Given the description of an element on the screen output the (x, y) to click on. 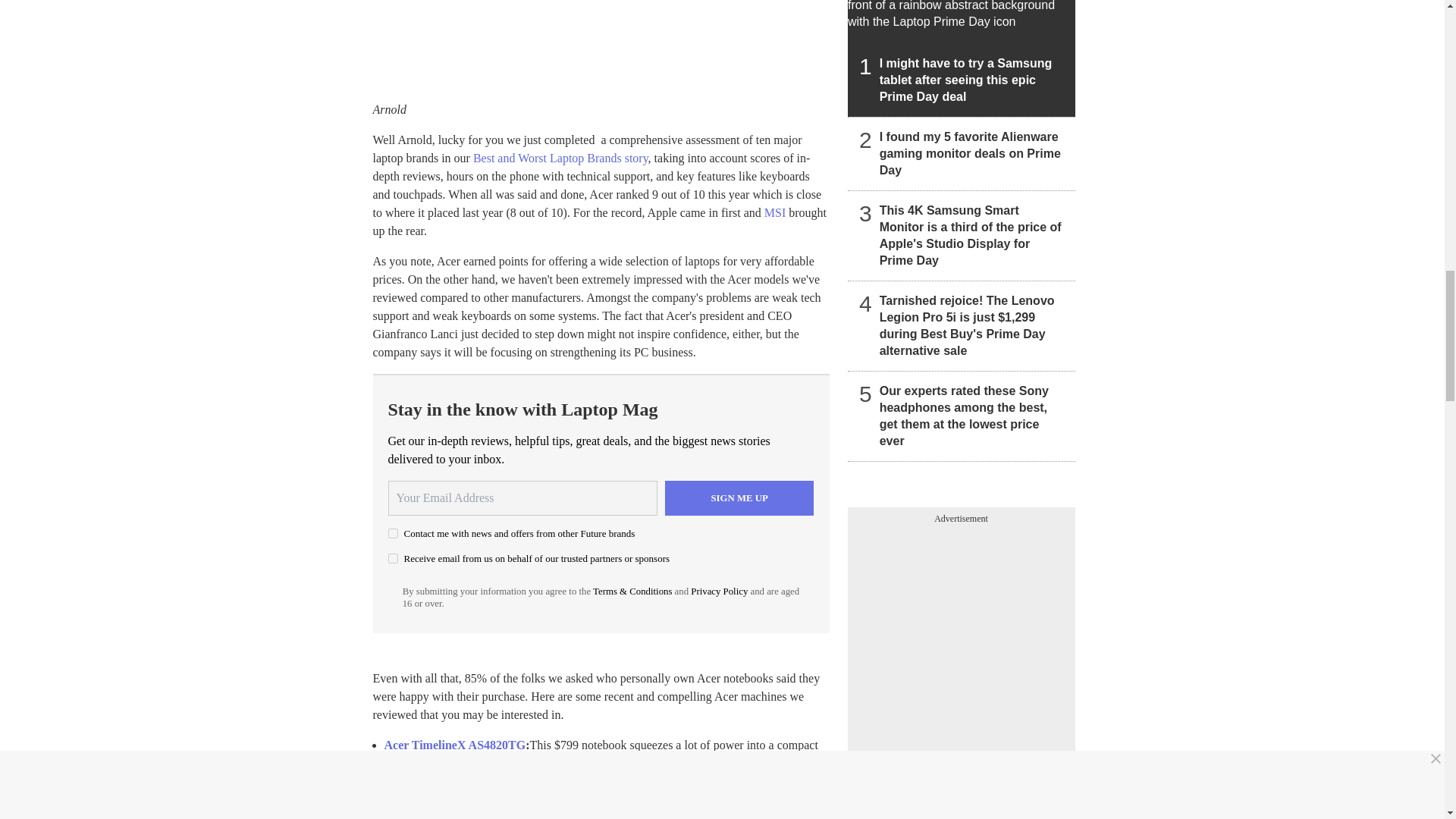
on (392, 558)
Sign me up (739, 497)
on (392, 533)
